Given the description of an element on the screen output the (x, y) to click on. 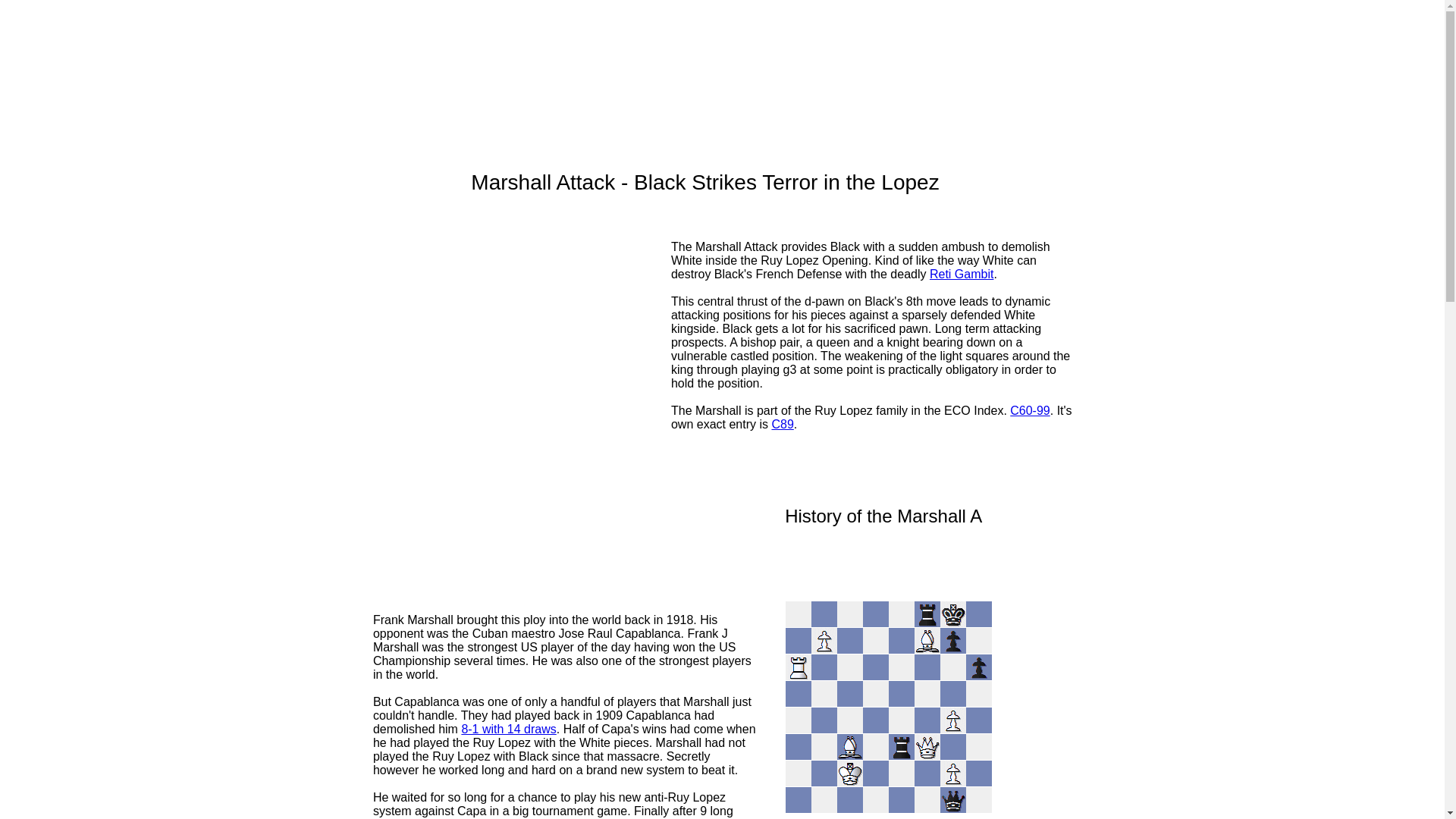
C89 (782, 423)
History of the Marshall A (882, 516)
C60-99 (1029, 410)
Reti Gambit (961, 273)
Advertisement (520, 398)
8-1 with 14 draws (508, 728)
